Given the description of an element on the screen output the (x, y) to click on. 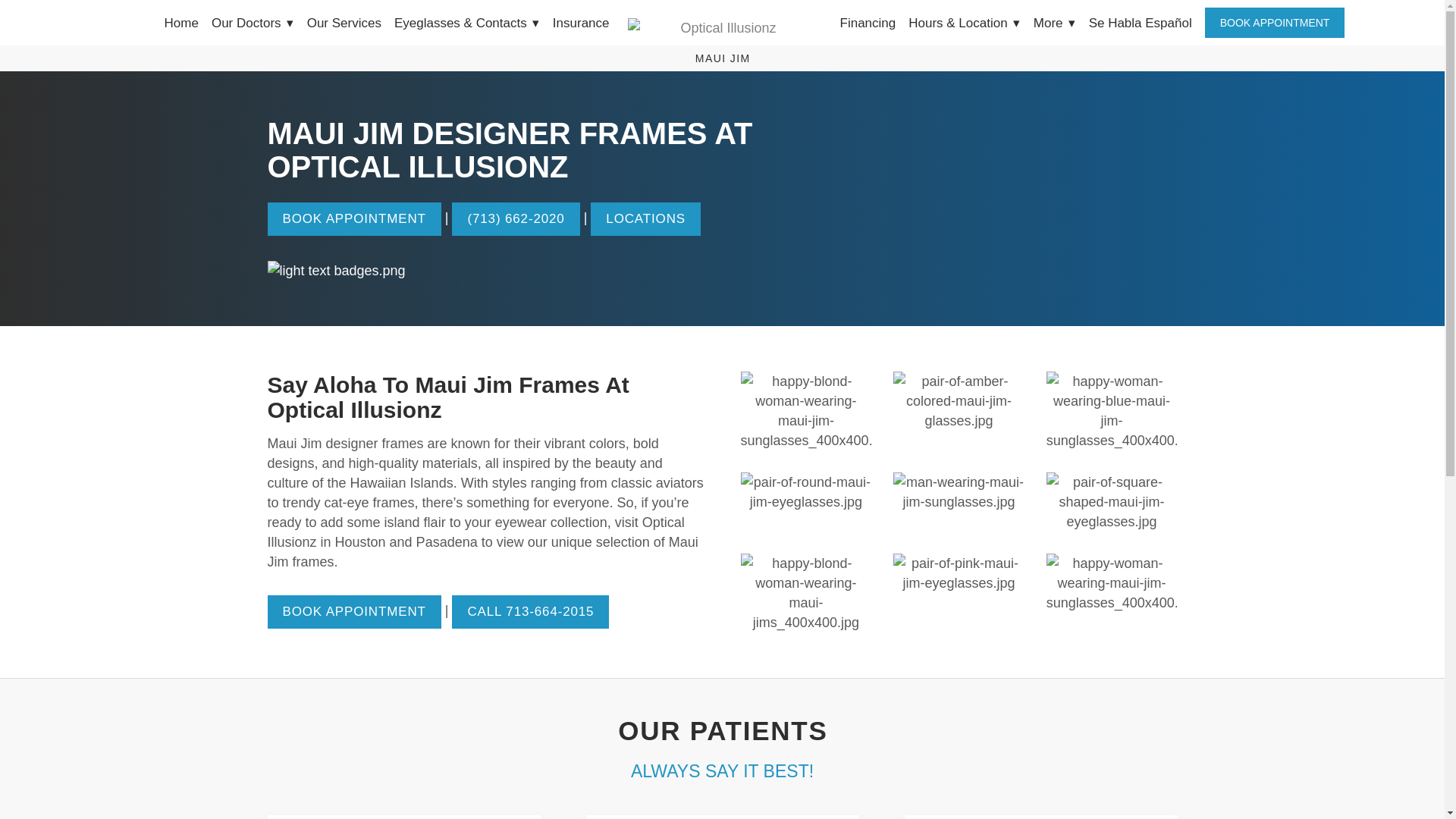
Home (181, 22)
BOOK APPOINTMENT (353, 219)
CALL 713-664-2015 (529, 612)
Optical Illusionz (721, 27)
BOOK APPOINTMENT (353, 612)
Our Services (344, 22)
Insurance (581, 22)
BOOK APPOINTMENT (1275, 22)
LOCATIONS (645, 219)
Financing (868, 22)
